Given the description of an element on the screen output the (x, y) to click on. 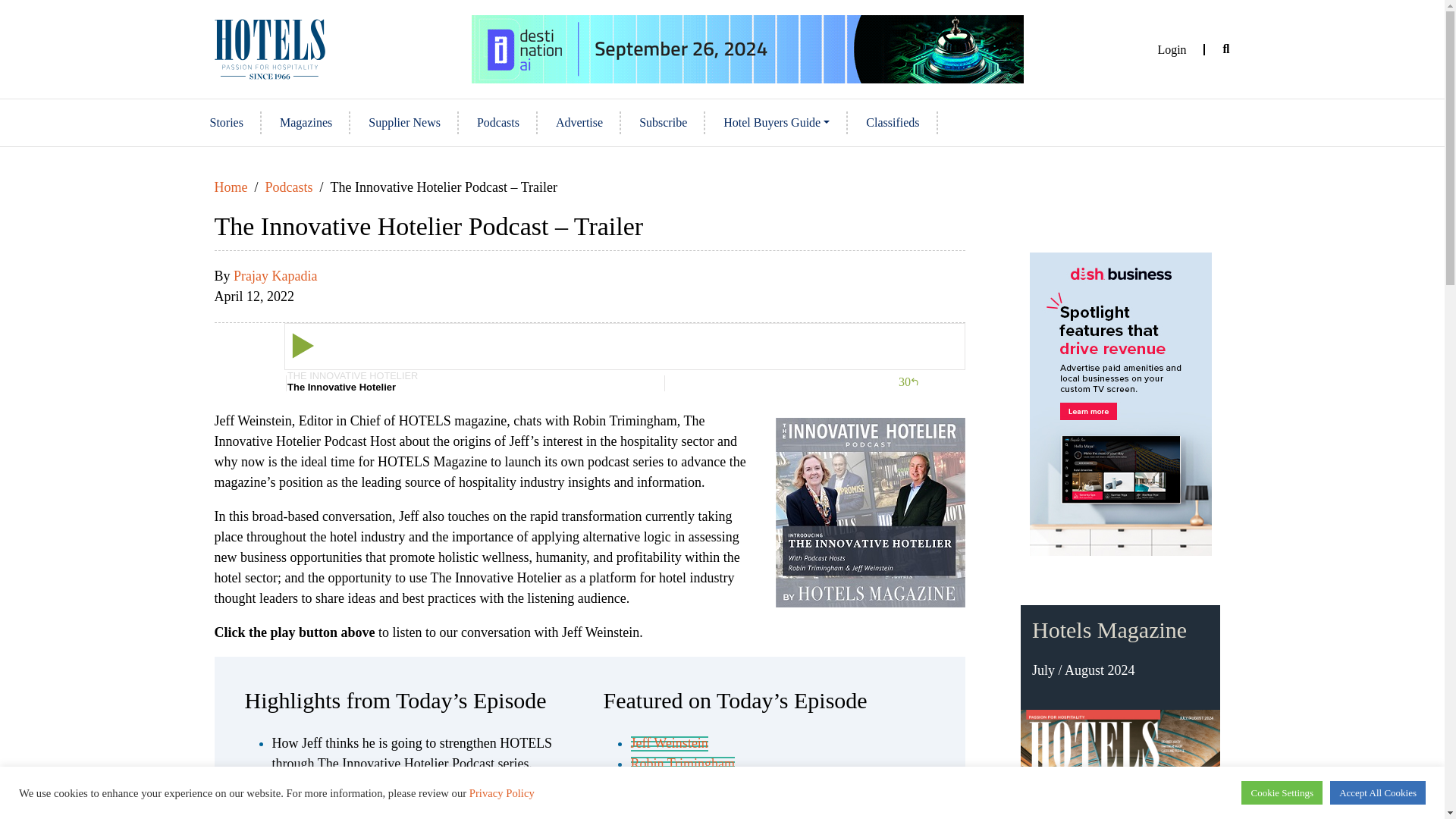
Podcasts (288, 186)
Jeff Weinstein (668, 743)
Prajay Kapadia (274, 275)
Magazines (306, 122)
Classifieds (892, 122)
Subscribe (662, 122)
Stories (226, 122)
Robin Trimingham (682, 764)
Libsyn Player (588, 356)
Advertise (579, 122)
